Given the description of an element on the screen output the (x, y) to click on. 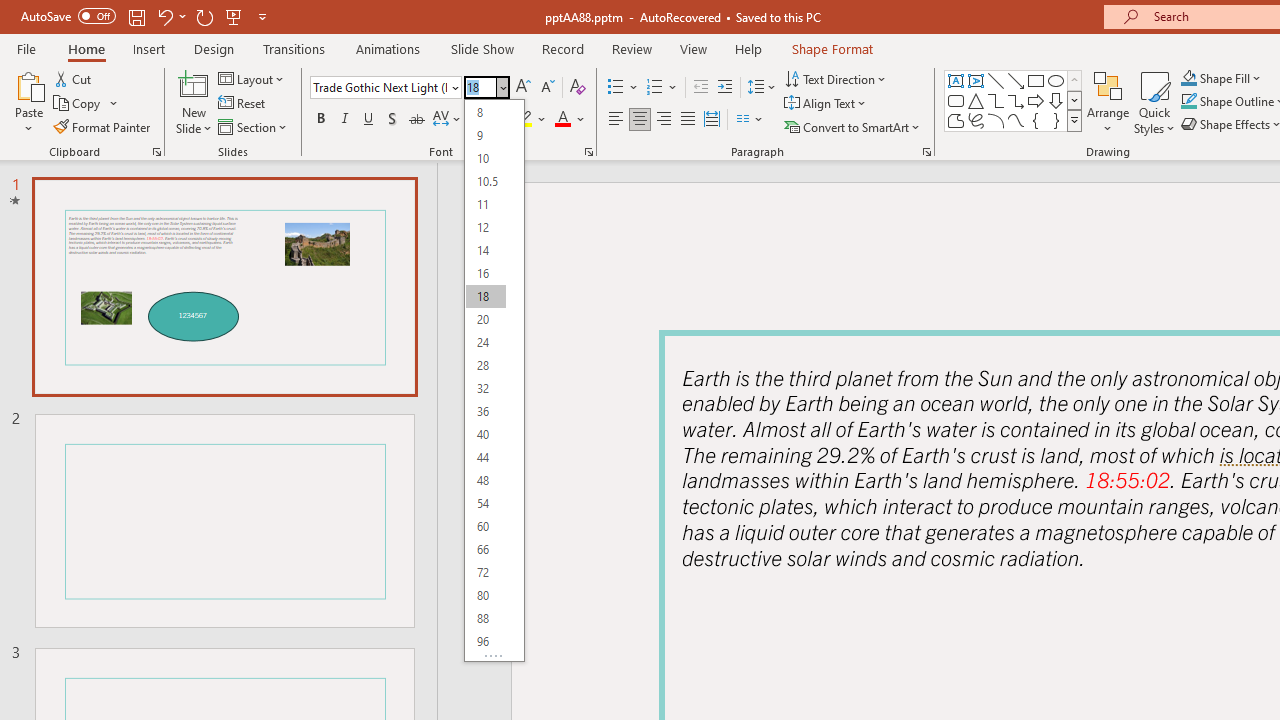
10 (485, 157)
20 (485, 319)
